Given the description of an element on the screen output the (x, y) to click on. 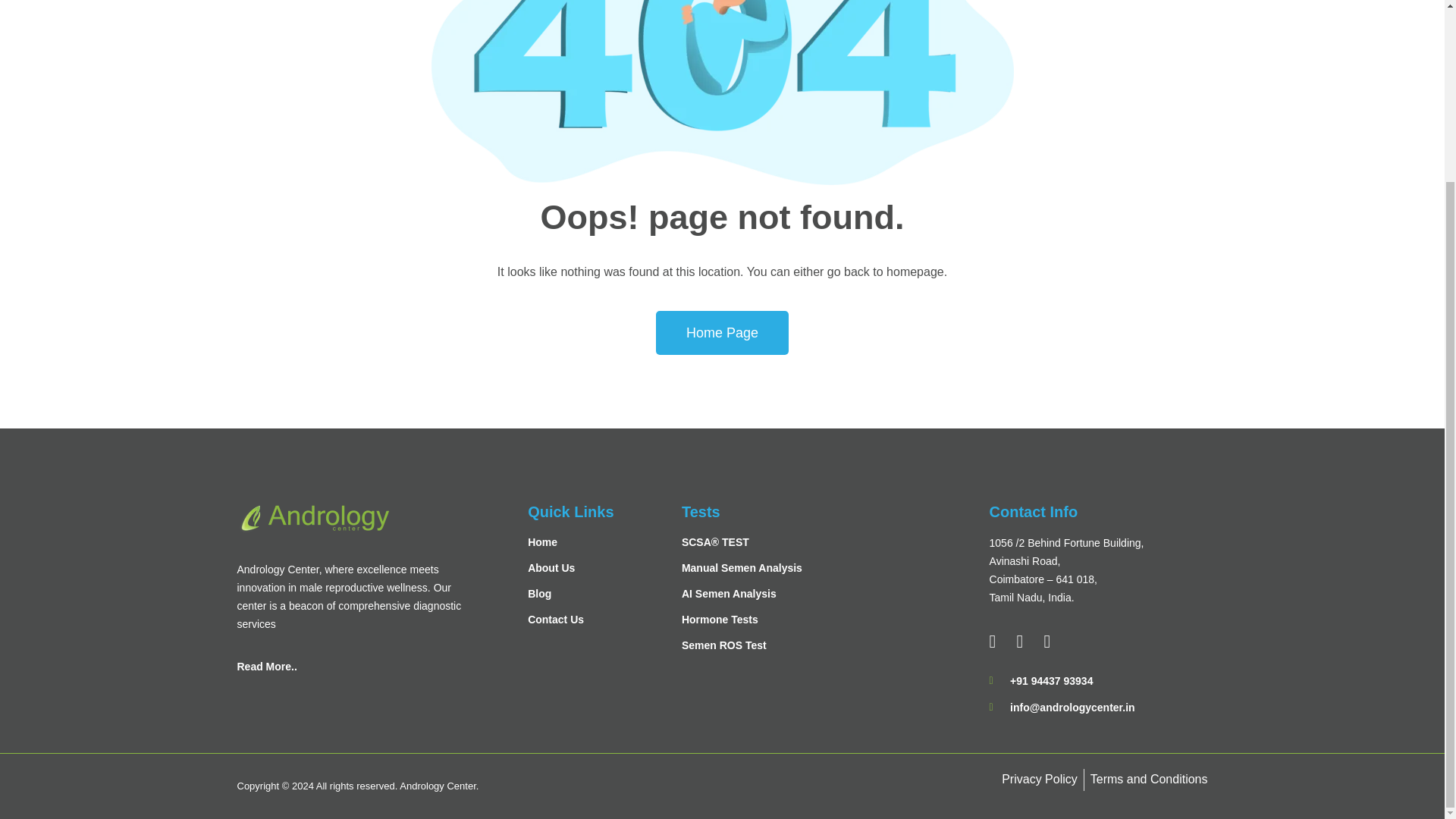
Home (604, 541)
andrology lab (311, 519)
Read More.. (352, 666)
Home Page (722, 332)
About Us (604, 567)
